Given the description of an element on the screen output the (x, y) to click on. 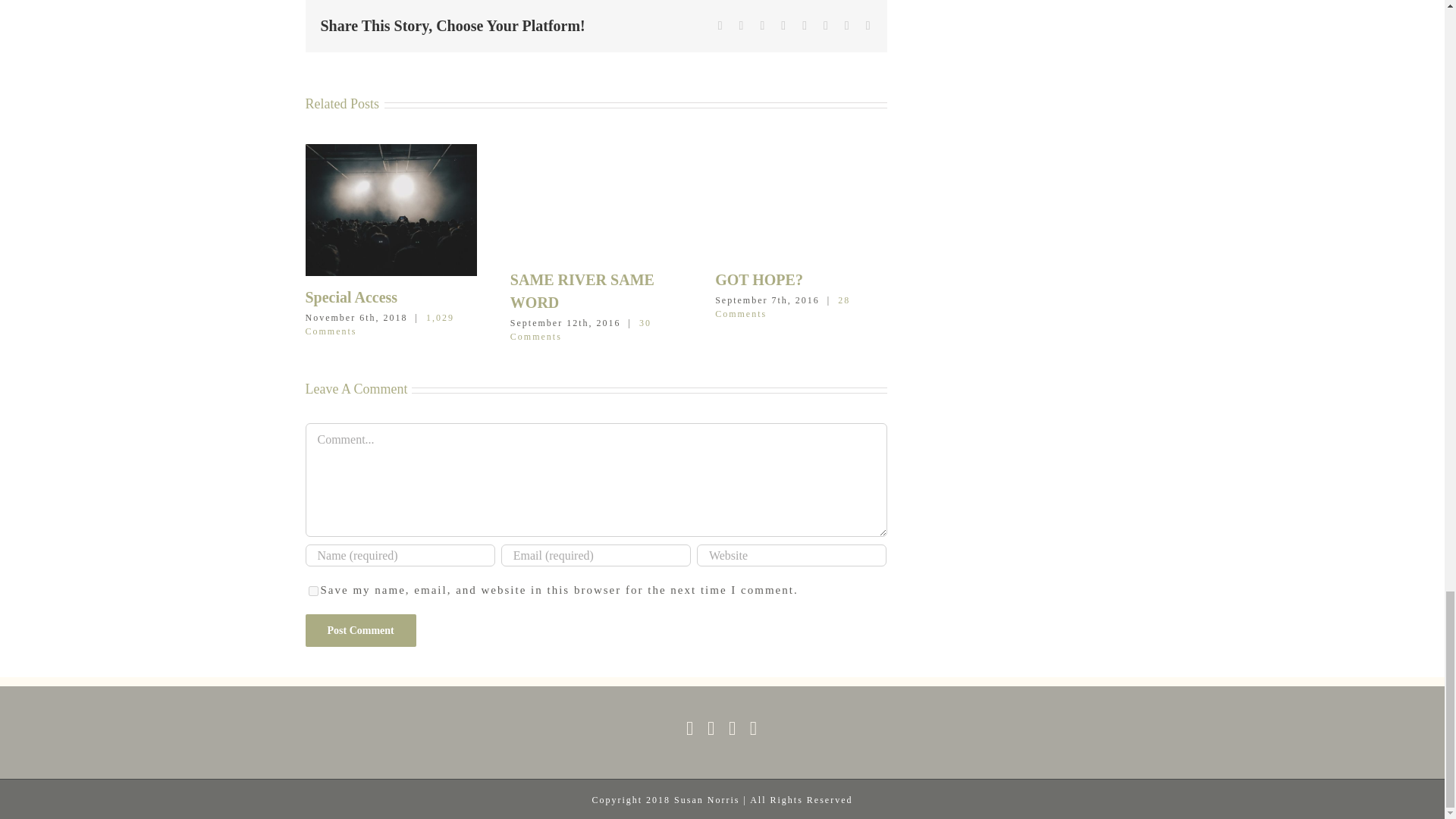
Special Access (350, 297)
Post Comment (359, 630)
GOT HOPE? (758, 279)
1,029 Comments (378, 324)
Special Access (350, 297)
SAME RIVER SAME WORD (582, 291)
yes (312, 591)
